Given the description of an element on the screen output the (x, y) to click on. 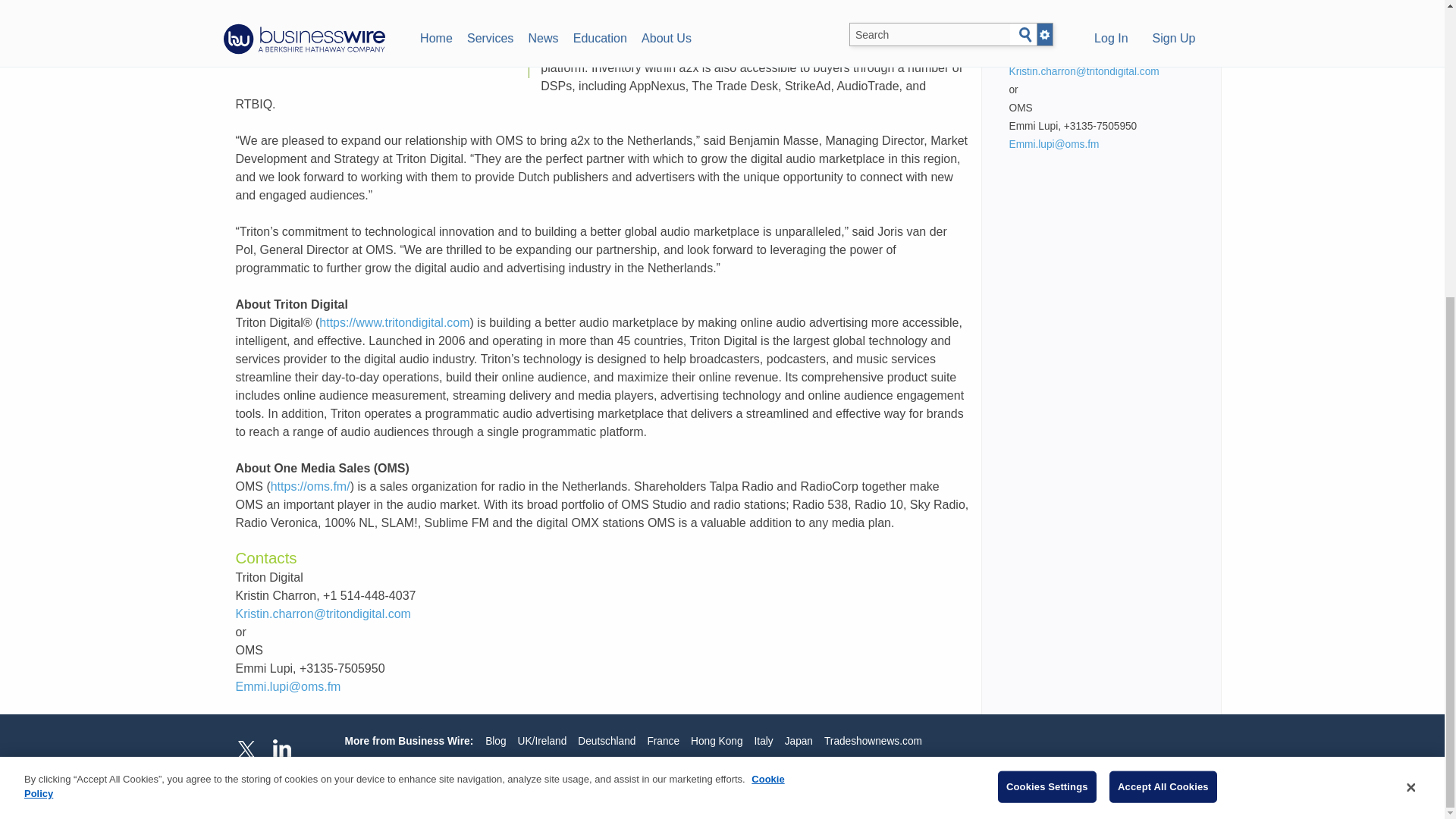
Post this (269, 58)
